Given the description of an element on the screen output the (x, y) to click on. 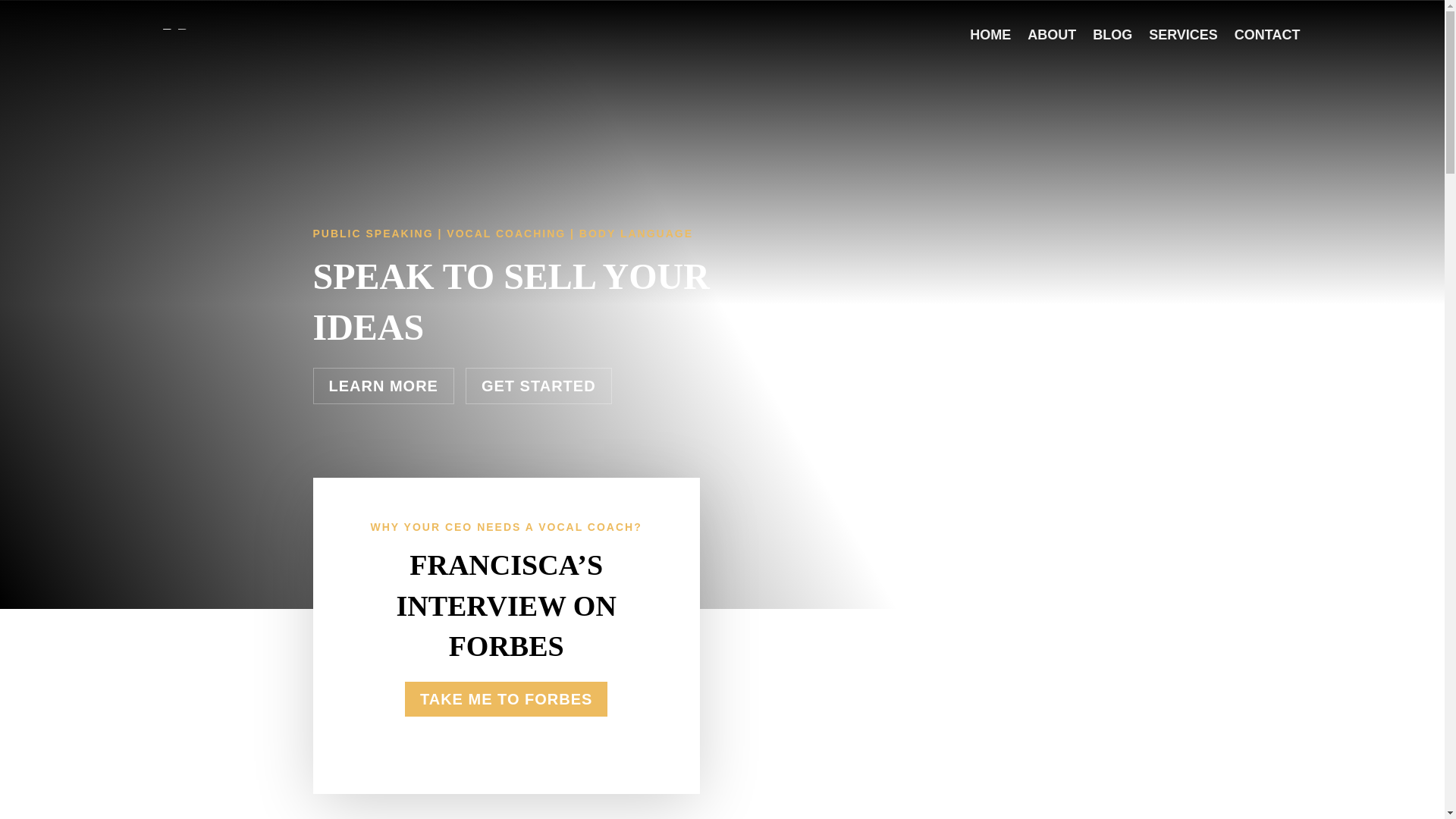
SERVICES (1182, 34)
GET STARTED (538, 385)
LEARN MORE (382, 385)
CONTACT (1267, 34)
TAKE ME TO FORBES (505, 698)
